Given the description of an element on the screen output the (x, y) to click on. 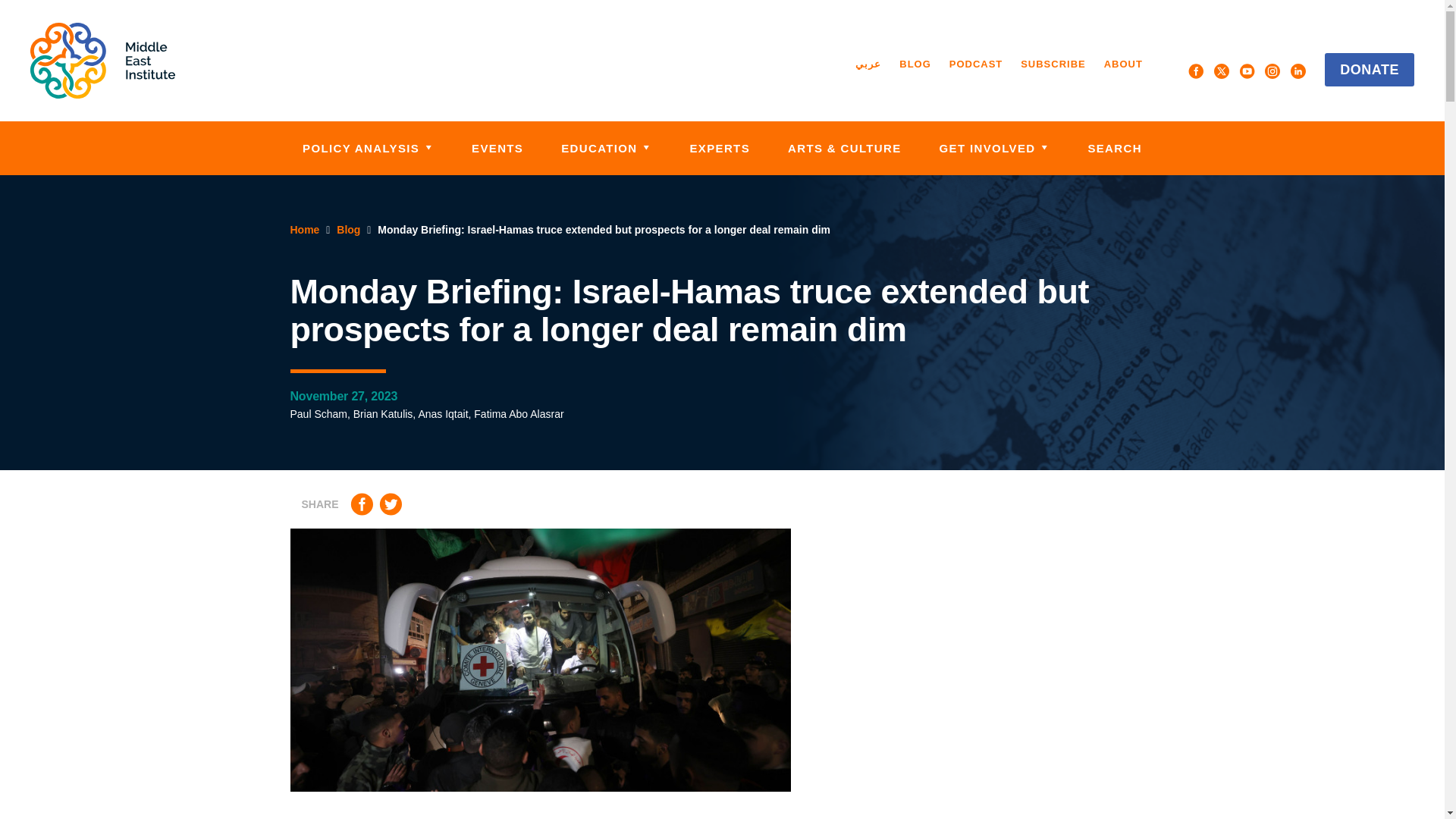
Home (102, 60)
MEI Insights blog (915, 64)
